Given the description of an element on the screen output the (x, y) to click on. 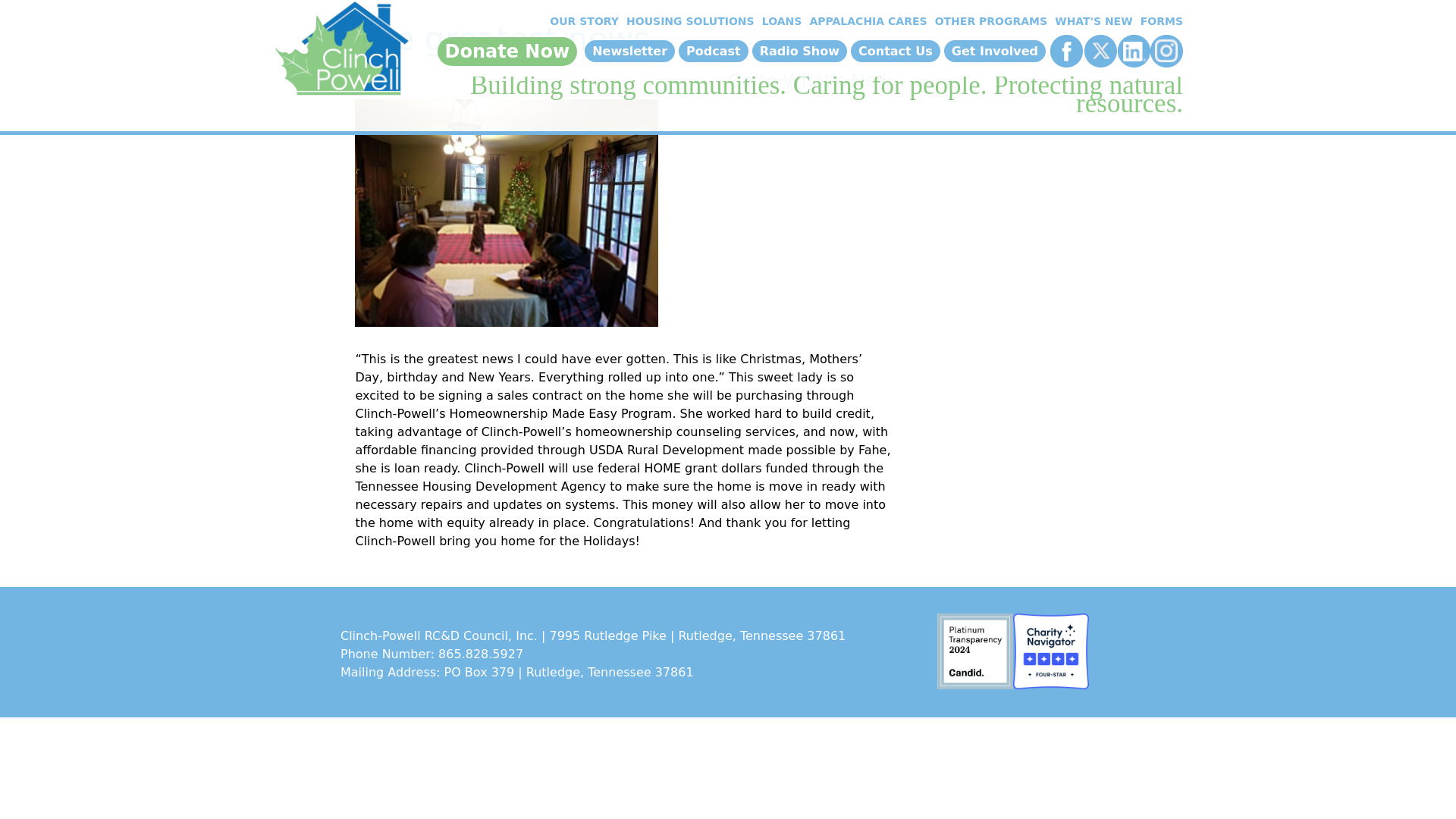
HOUSING SOLUTIONS (688, 21)
LOANS (780, 21)
Donate Now (508, 51)
Newsletter (630, 51)
Podcast (713, 51)
Contact Us (895, 51)
WHAT'S NEW (1091, 21)
Go to What's New (809, 80)
APPALACHIA CARES (865, 21)
OTHER PROGRAMS (988, 21)
Radio Show (799, 51)
Home (341, 52)
FORMS (1159, 21)
Get Involved (994, 51)
OUR STORY (582, 21)
